Given the description of an element on the screen output the (x, y) to click on. 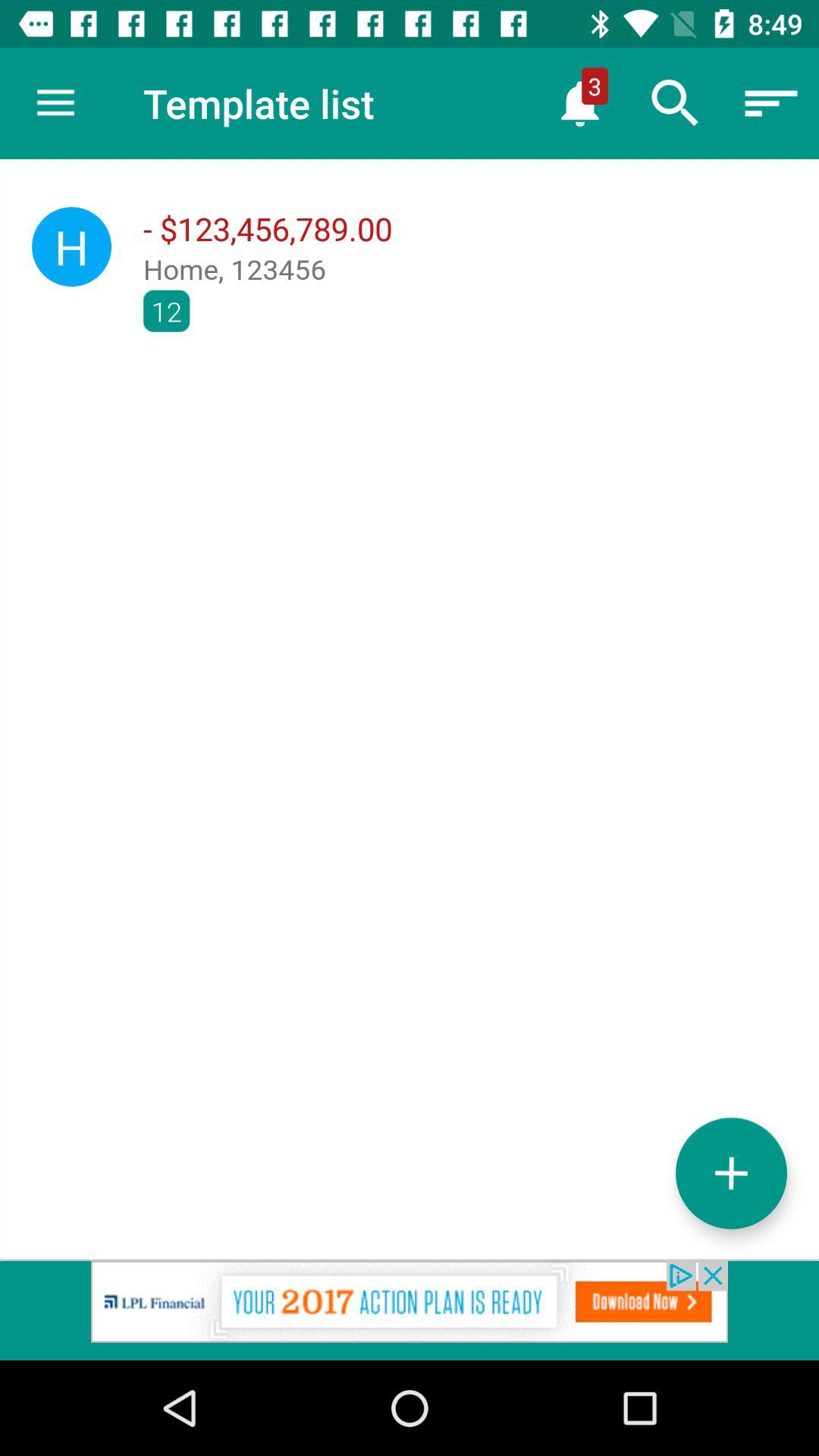
go to advertisement (409, 1310)
